Given the description of an element on the screen output the (x, y) to click on. 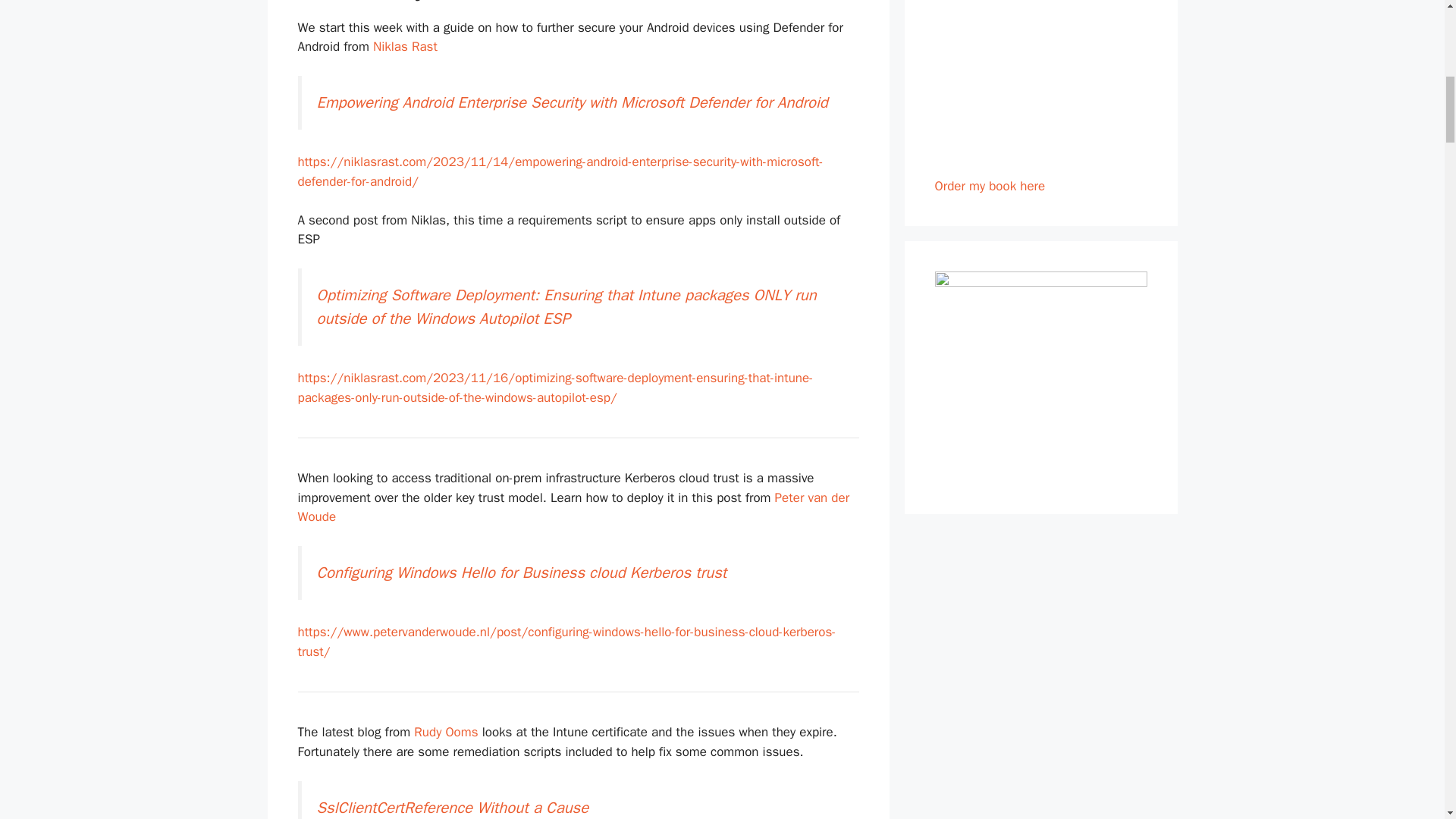
Configuring Windows Hello for Business cloud Kerberos trust (521, 572)
Peter van der Woude (572, 507)
Niklas Rast (405, 46)
